Given the description of an element on the screen output the (x, y) to click on. 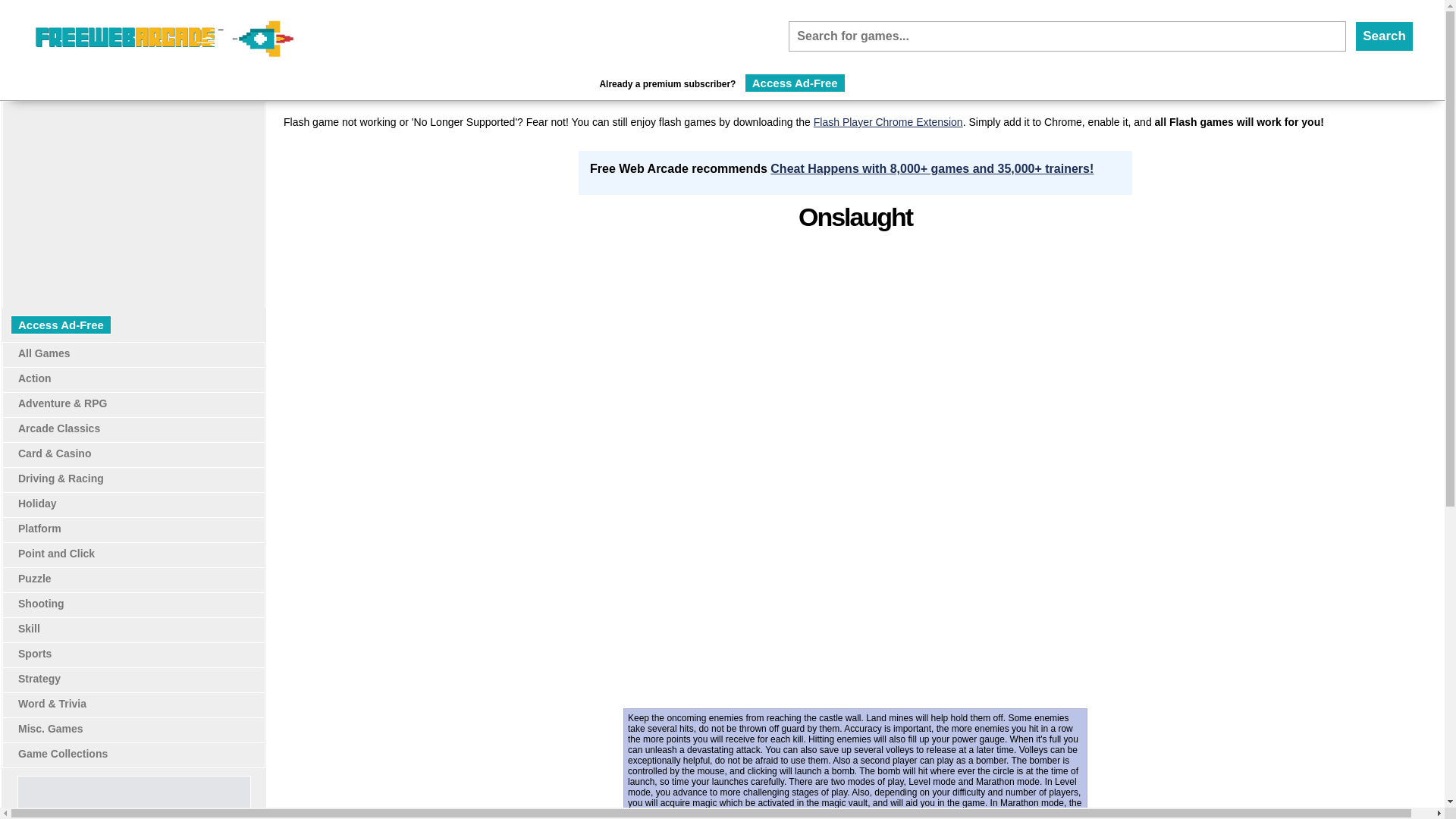
Action (33, 378)
Holiday (36, 503)
Sports (33, 653)
Shooting (40, 603)
Game Collections (62, 753)
All Games (43, 353)
Flash Player Chrome Extension (887, 121)
Skill (28, 628)
Search (1384, 36)
Platform (39, 528)
Puzzle (33, 578)
Access Ad-Free (61, 324)
Search (1384, 36)
Access Ad-Free (794, 82)
Misc. Games (49, 728)
